Given the description of an element on the screen output the (x, y) to click on. 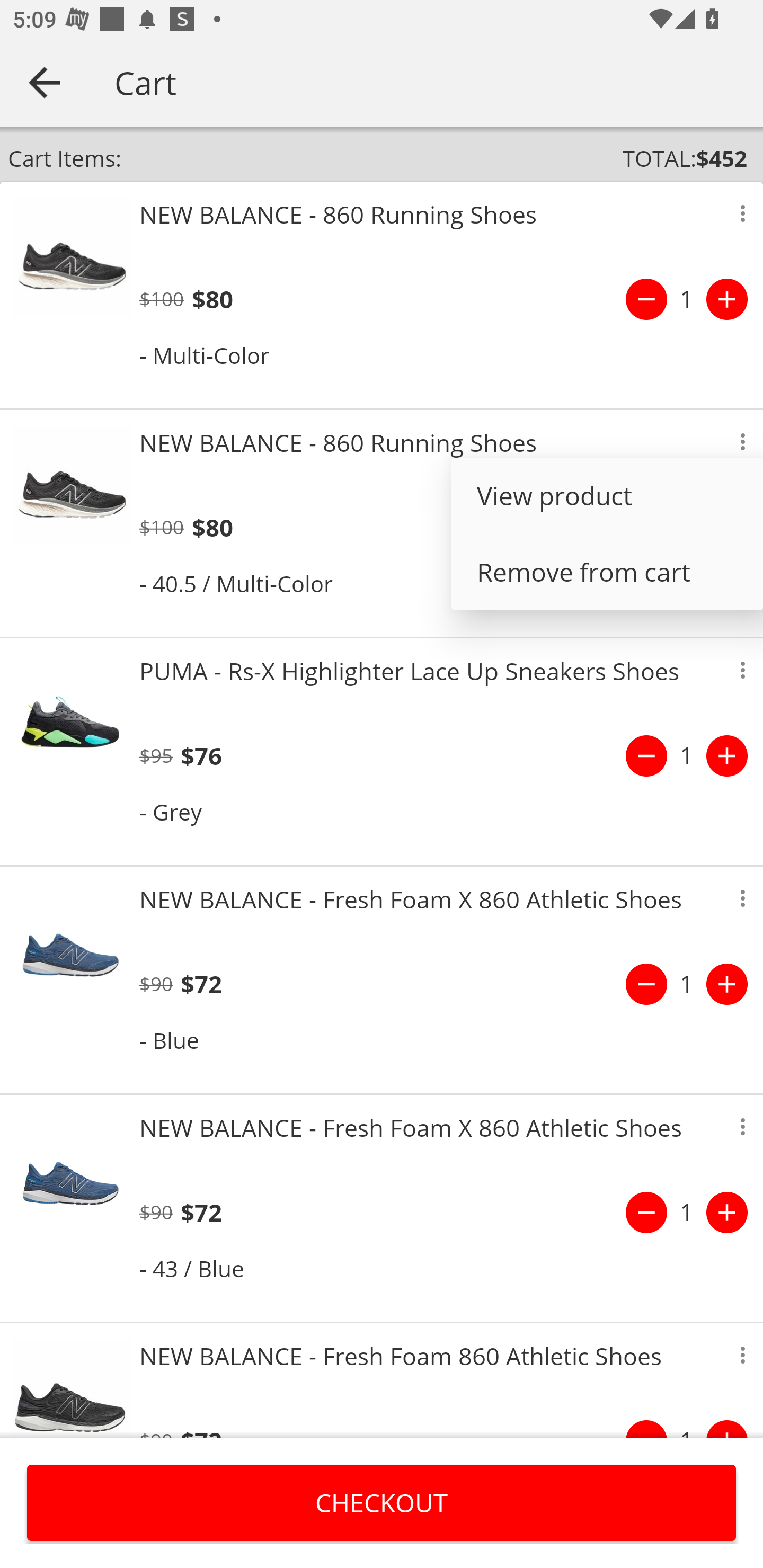
View product (607, 495)
Remove from cart (607, 571)
